Given the description of an element on the screen output the (x, y) to click on. 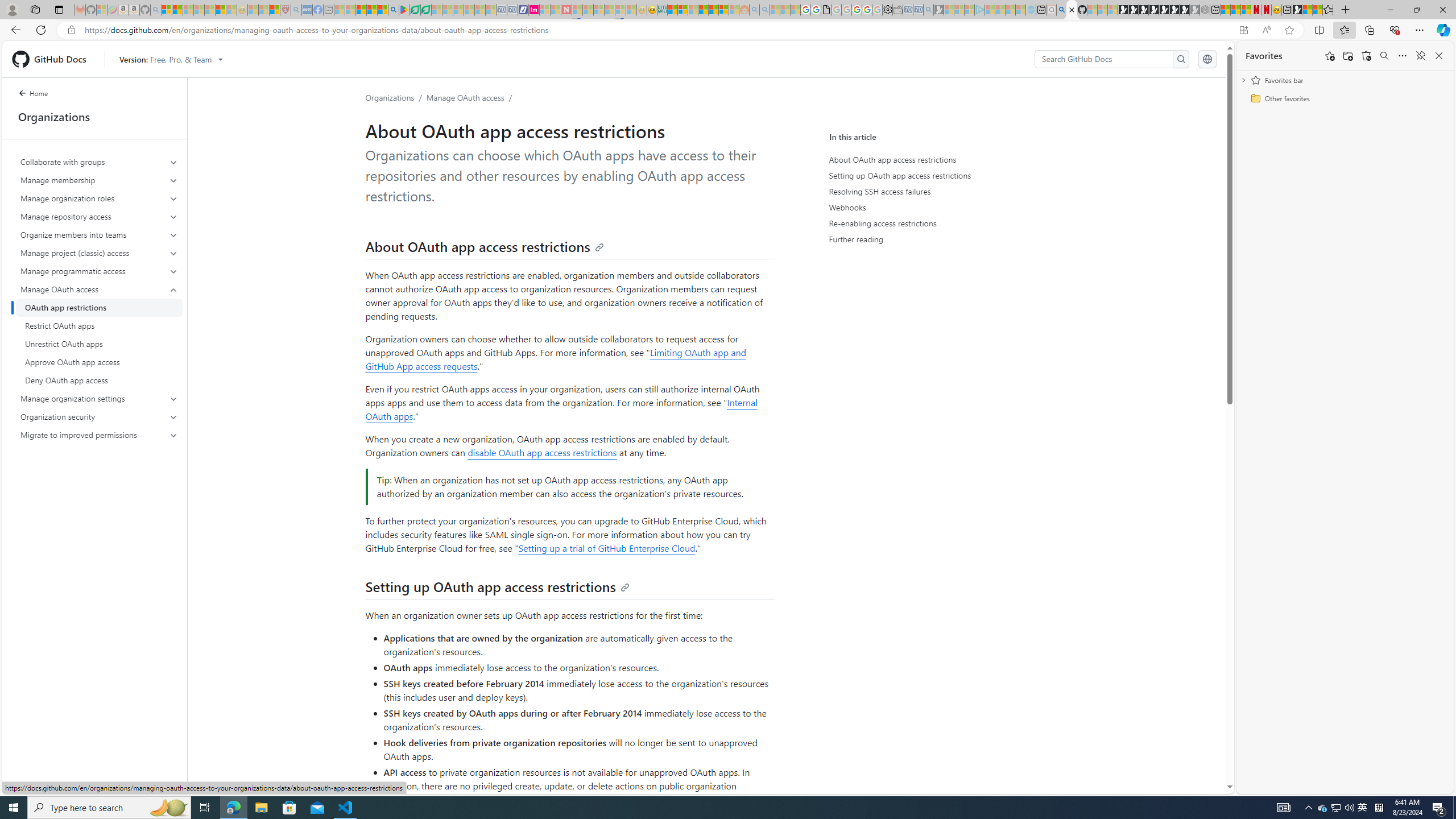
OAuth app restrictions (99, 307)
Webhooks (935, 207)
Internal OAuth apps (561, 409)
Wildlife - MSN (1307, 9)
github - Search (1061, 9)
About OAuth app access restrictions (484, 246)
Manage repository access (99, 216)
Organizations/ (395, 97)
